Given the description of an element on the screen output the (x, y) to click on. 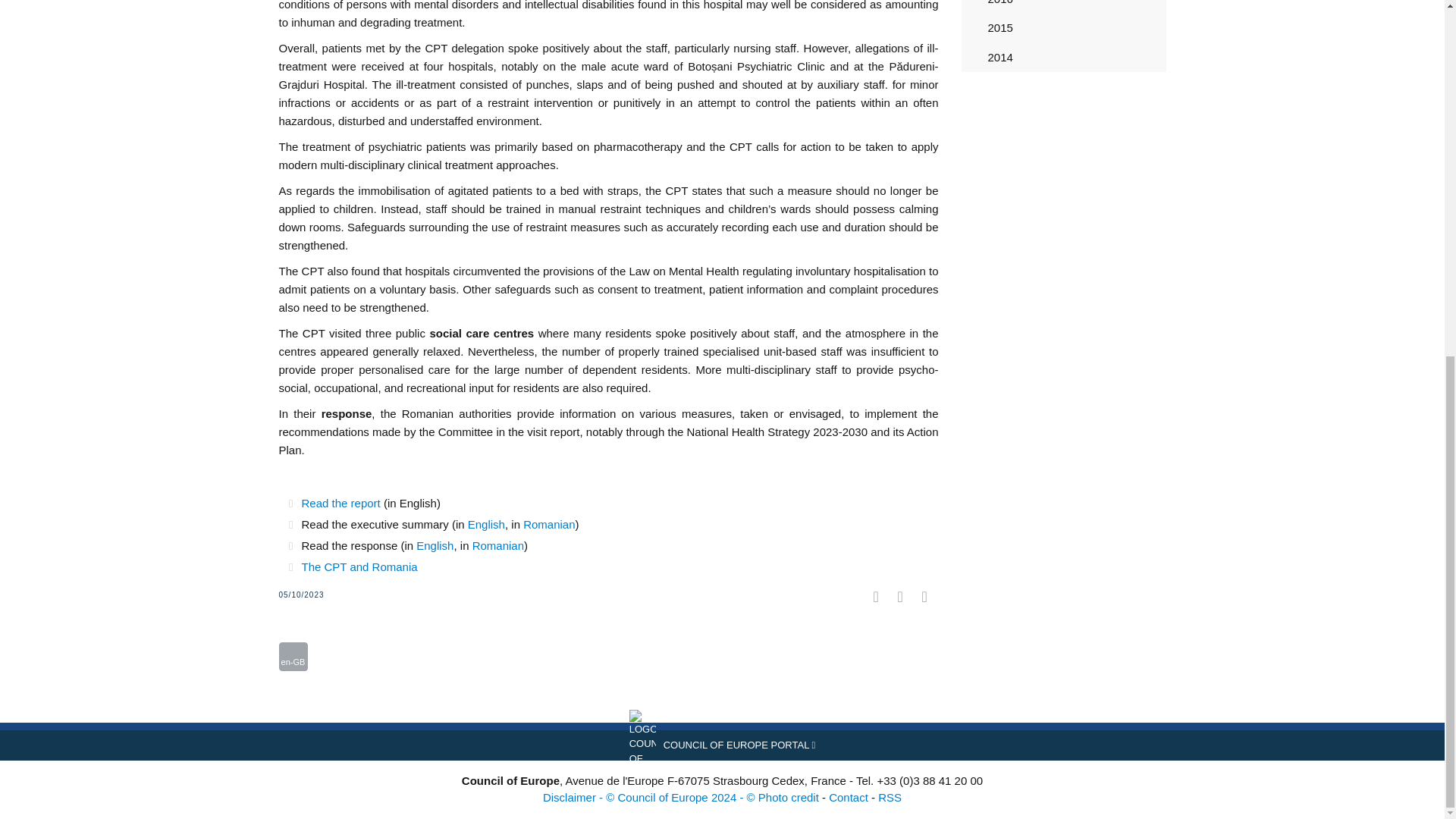
Veiksmai (293, 656)
Twitter (312, 632)
